Given the description of an element on the screen output the (x, y) to click on. 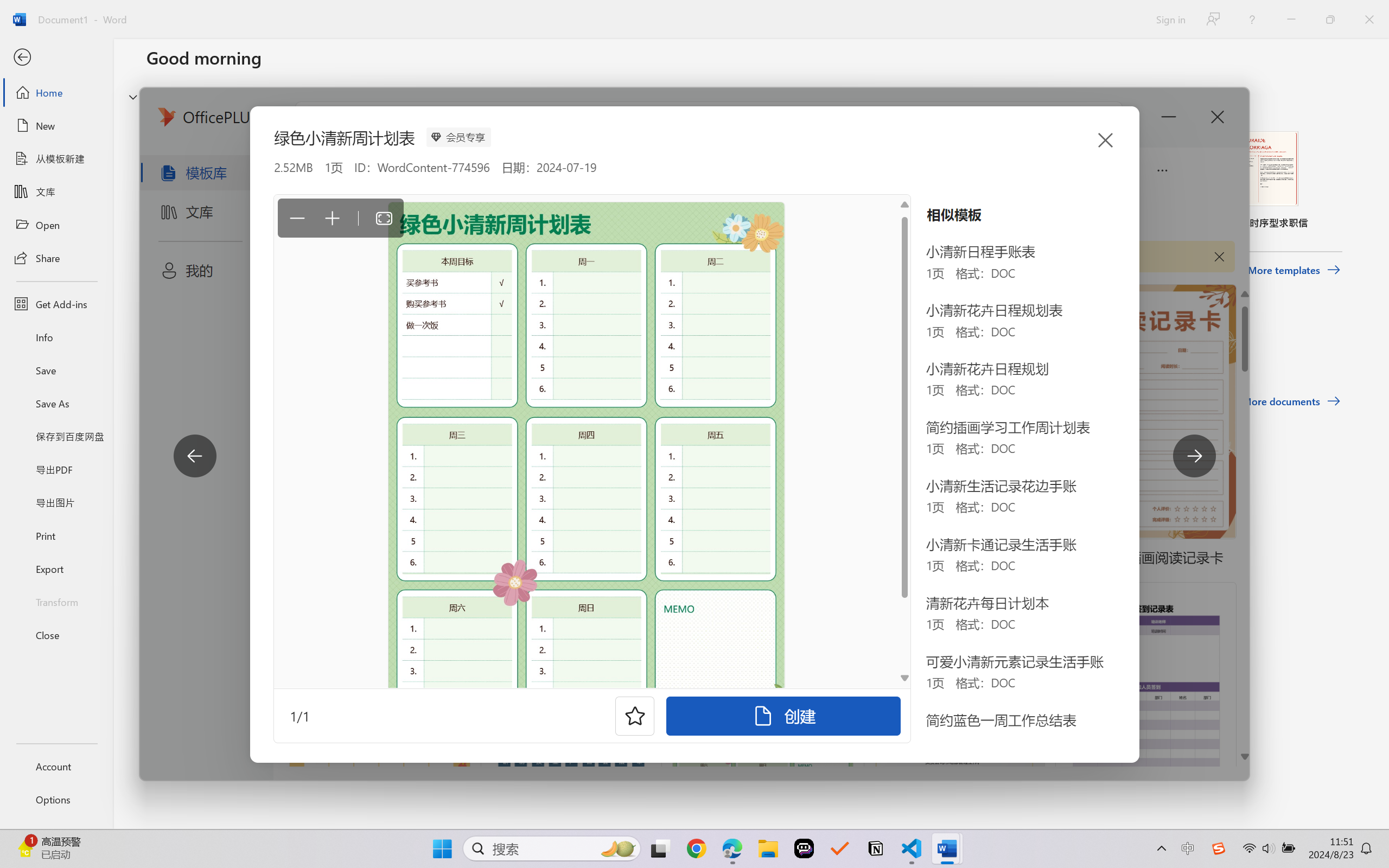
Sign in (1170, 18)
Print (56, 535)
Transform (56, 601)
Info (56, 337)
